Given the description of an element on the screen output the (x, y) to click on. 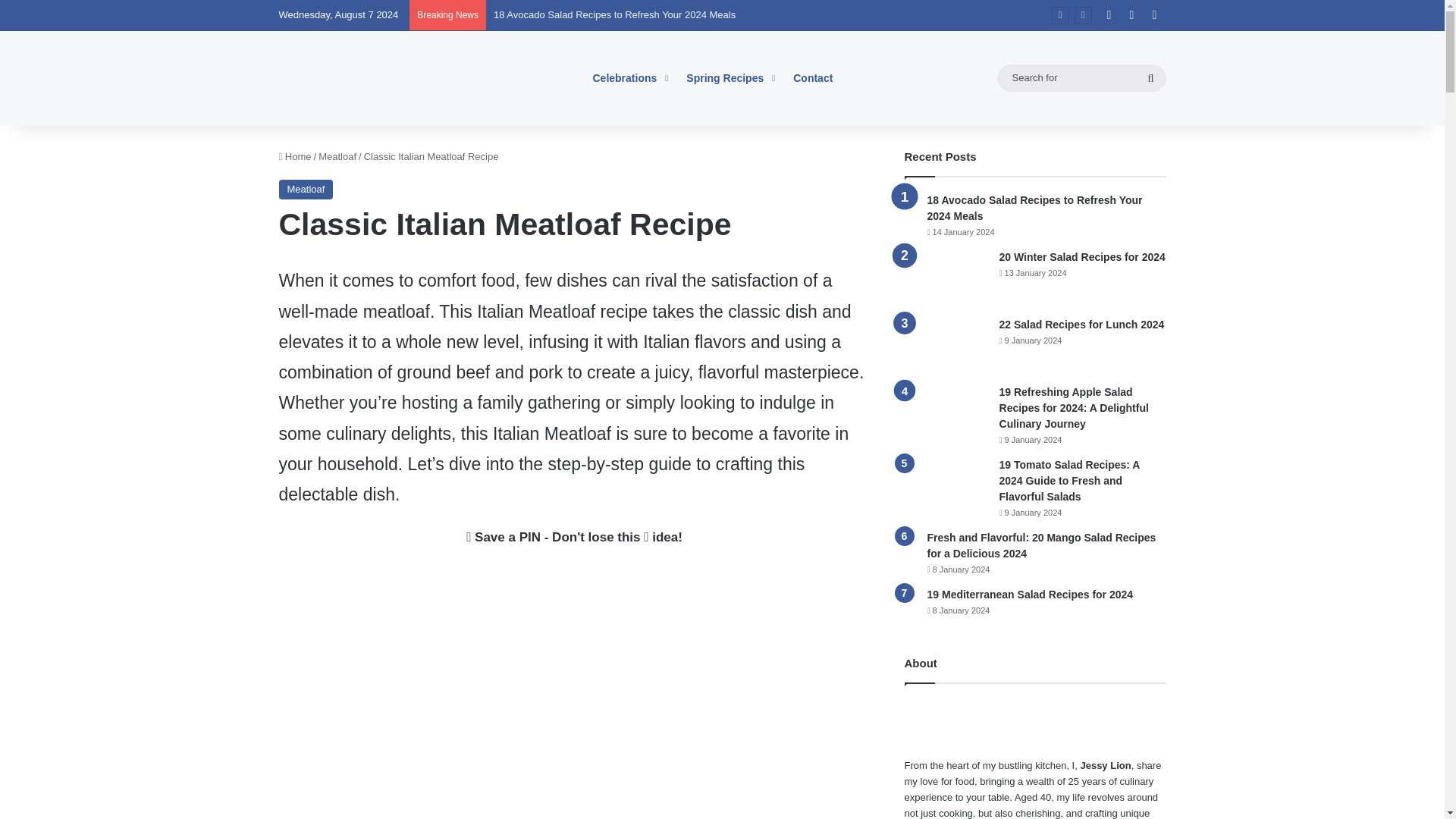
Celebrations (629, 78)
Search for (1150, 77)
18 Avocado Salad Recipes to Refresh Your 2024 Meals (614, 14)
Meatloaf (306, 189)
Spring Recipes (729, 78)
Meatloaf (337, 156)
Search for (1080, 77)
Home (295, 156)
